Given the description of an element on the screen output the (x, y) to click on. 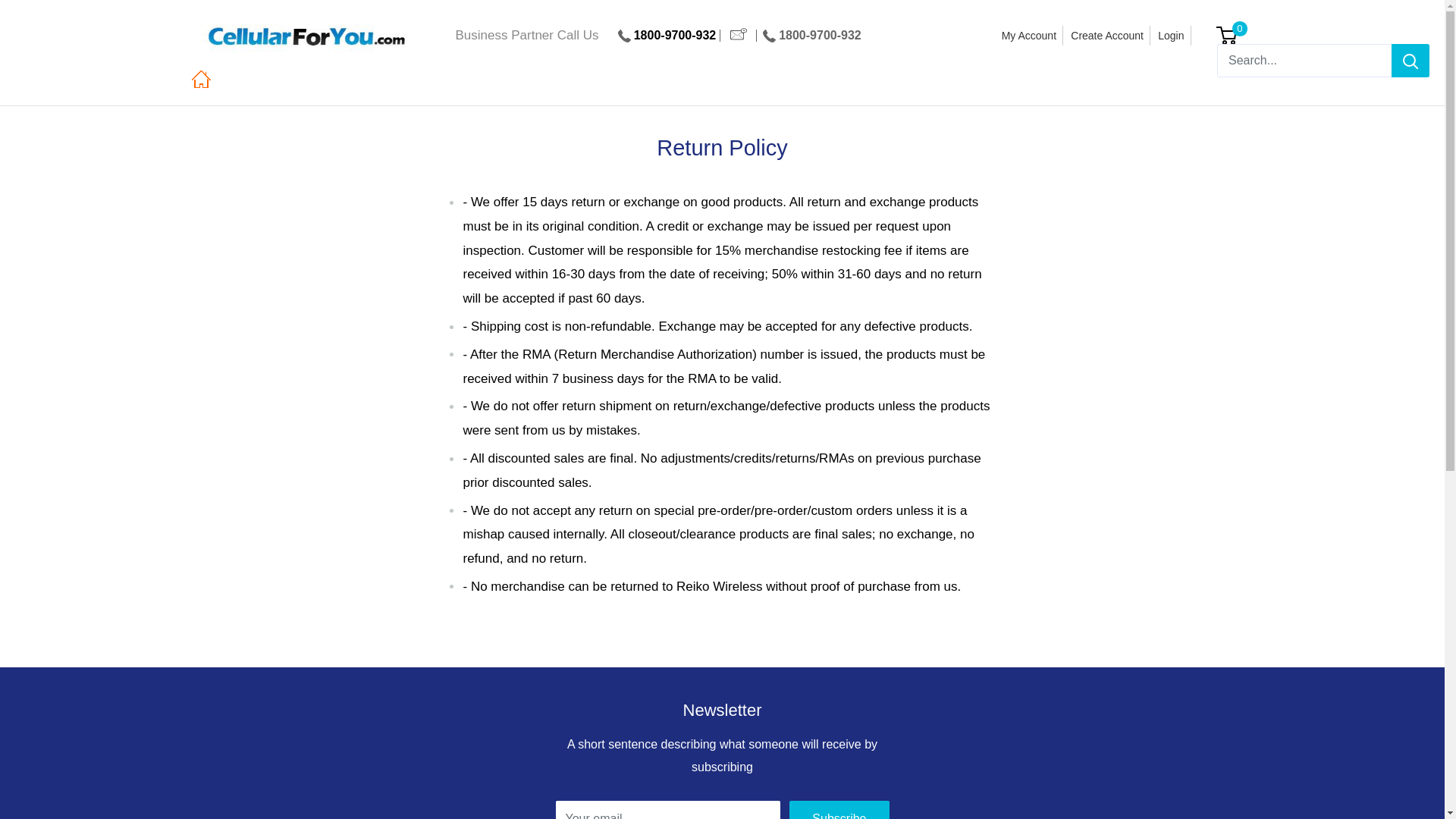
0 (1235, 35)
1800-9700-932 (818, 34)
Cellular For You (304, 35)
My Account (1028, 35)
Login (1171, 35)
1800-9700-932 (674, 34)
Create Account (1107, 35)
